Given the description of an element on the screen output the (x, y) to click on. 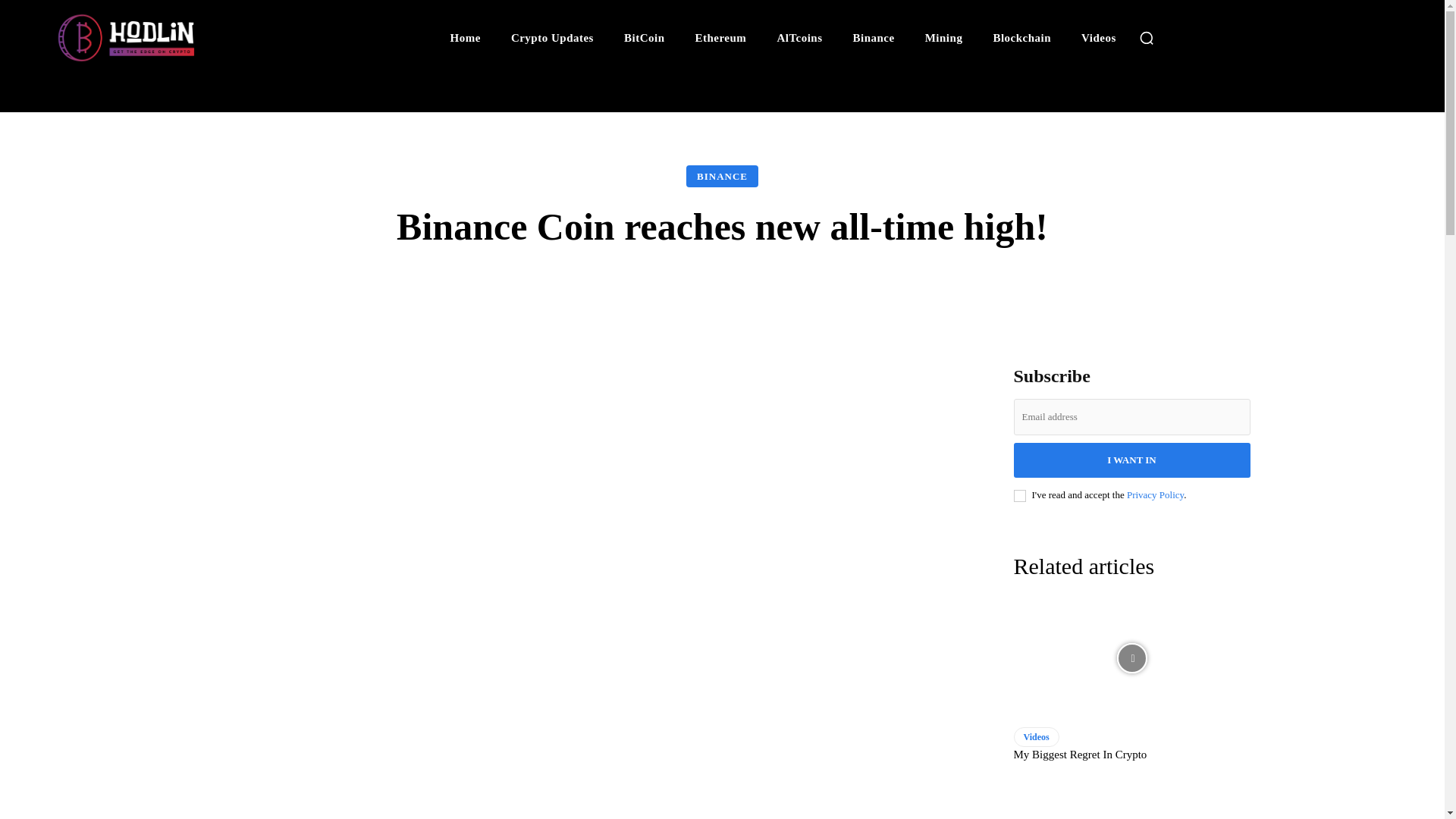
My Biggest Regret In Crypto (1131, 657)
Blockchain (1021, 38)
My Biggest Regret In Crypto (1080, 754)
Crypto Updates (552, 38)
